Given the description of an element on the screen output the (x, y) to click on. 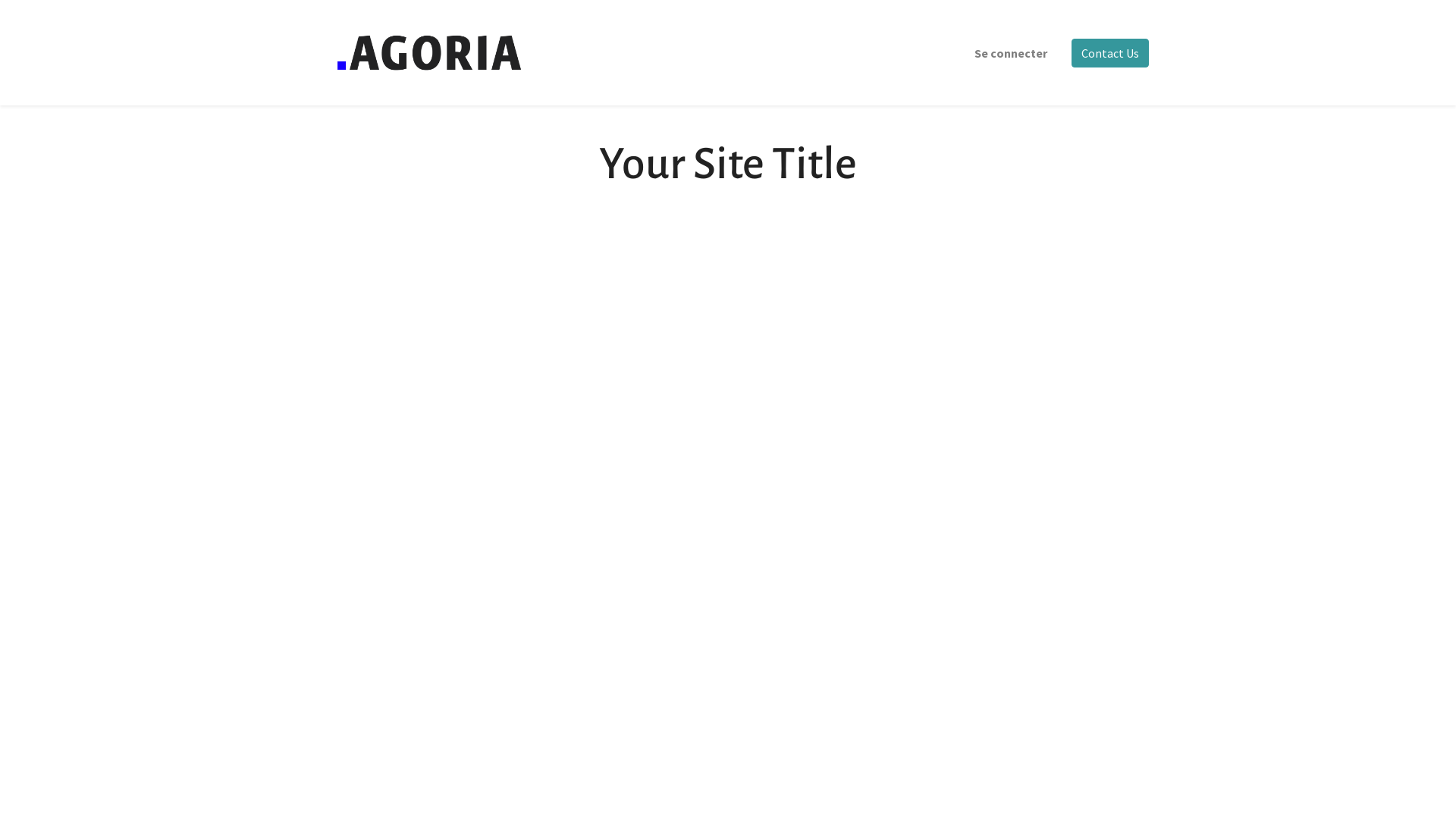
Contact Us Element type: text (1109, 52)
Se connecter Element type: text (1010, 52)
